Given the description of an element on the screen output the (x, y) to click on. 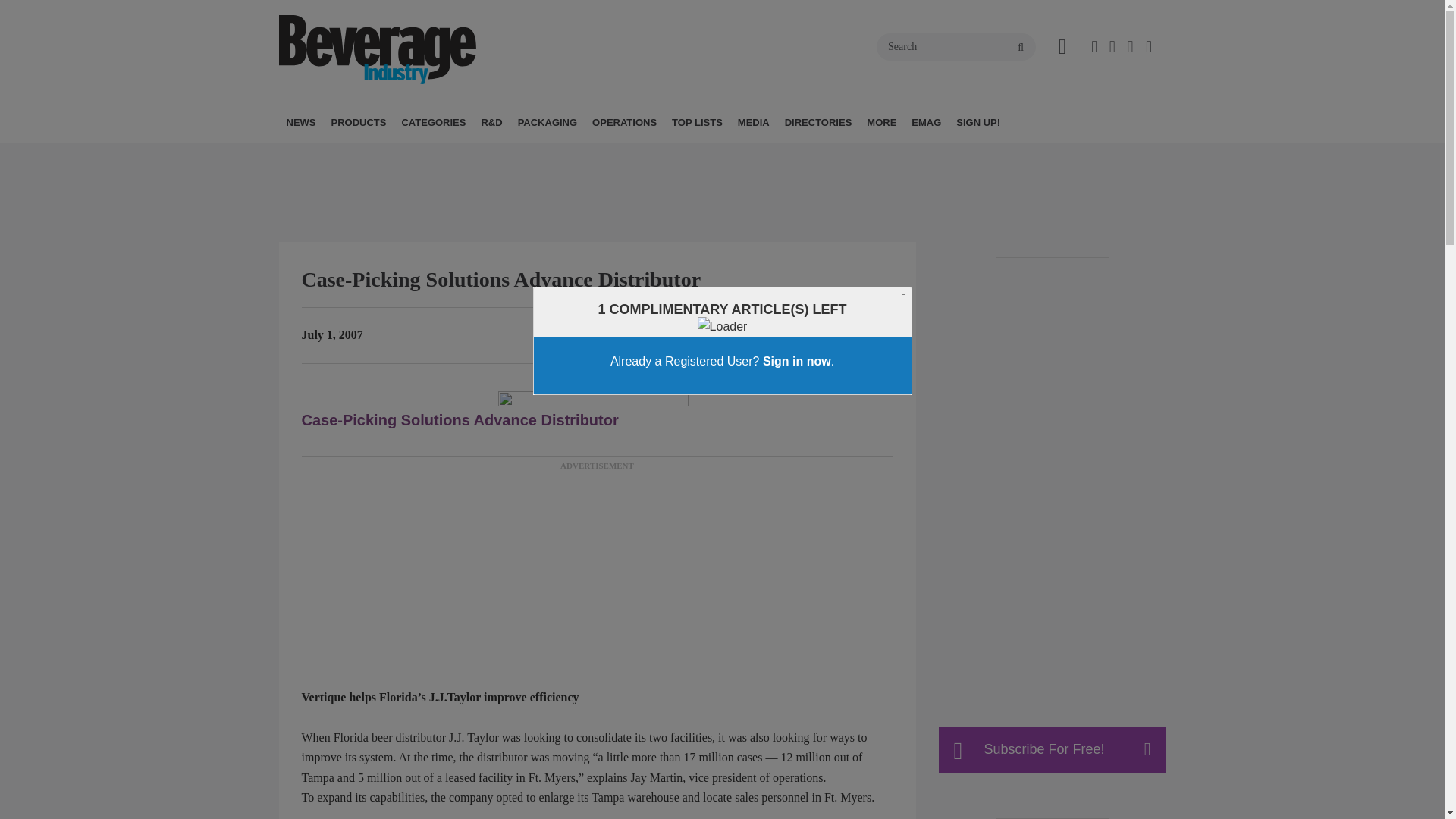
TEA AND COFFEE (528, 155)
INGREDIENT SPOTLIGHT (574, 155)
PRODUCTS (358, 122)
BEER (496, 155)
PACKAGING MATERIAL (605, 155)
INDUSTRY NEWS (386, 155)
CATEGORIES (433, 122)
ALTERNATIVE DRINKS (488, 155)
BOTTLED WATER (501, 155)
NEWS (301, 122)
